Given the description of an element on the screen output the (x, y) to click on. 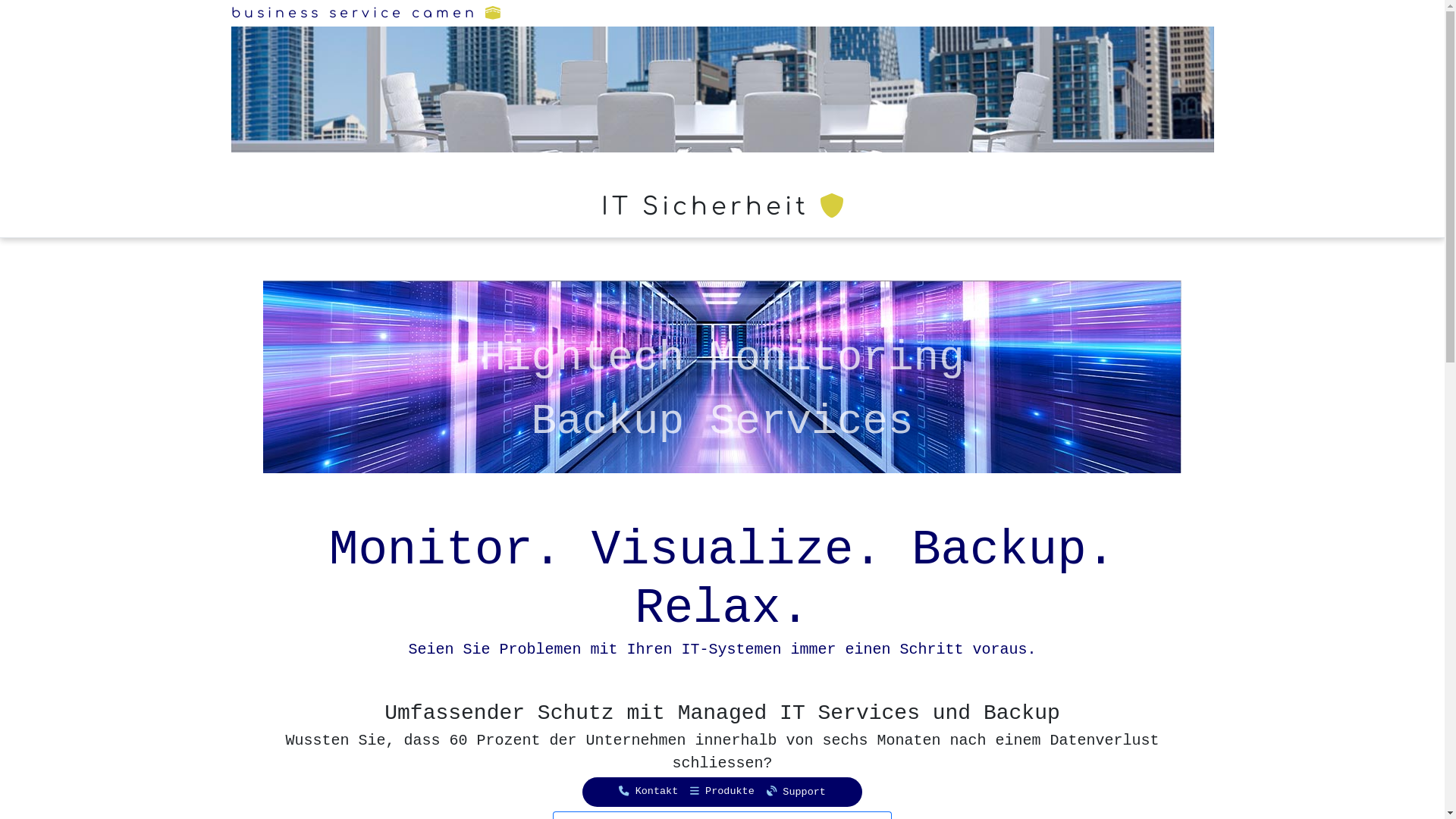
Kontakt Element type: text (647, 791)
Produkte Element type: text (722, 791)
Support Element type: text (795, 791)
